Given the description of an element on the screen output the (x, y) to click on. 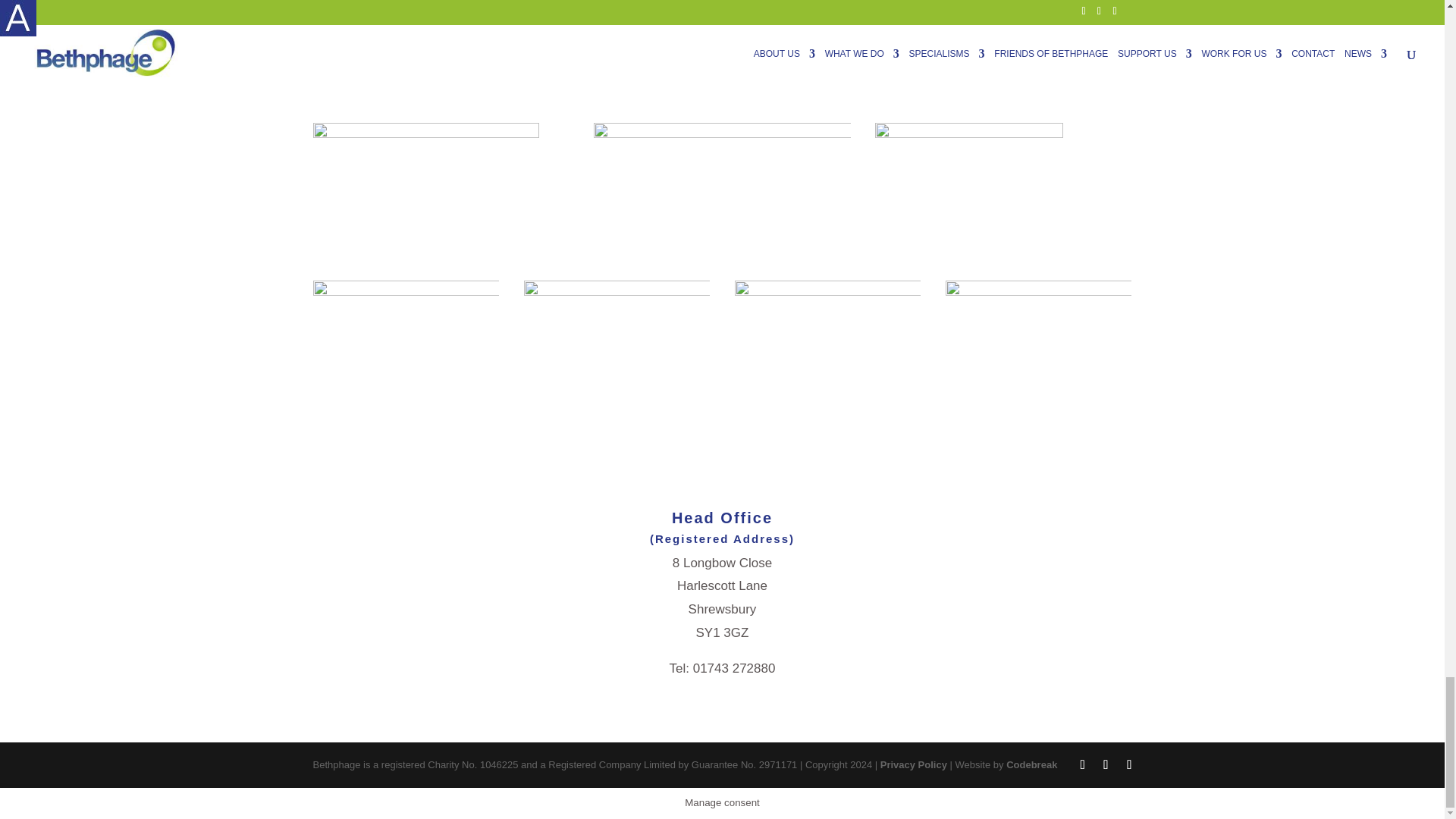
Bethphage, Social Value in Shropshire Logo (828, 333)
Fundraising-Regulator-Logo (617, 330)
logo-partners-in-care (406, 311)
